Given the description of an element on the screen output the (x, y) to click on. 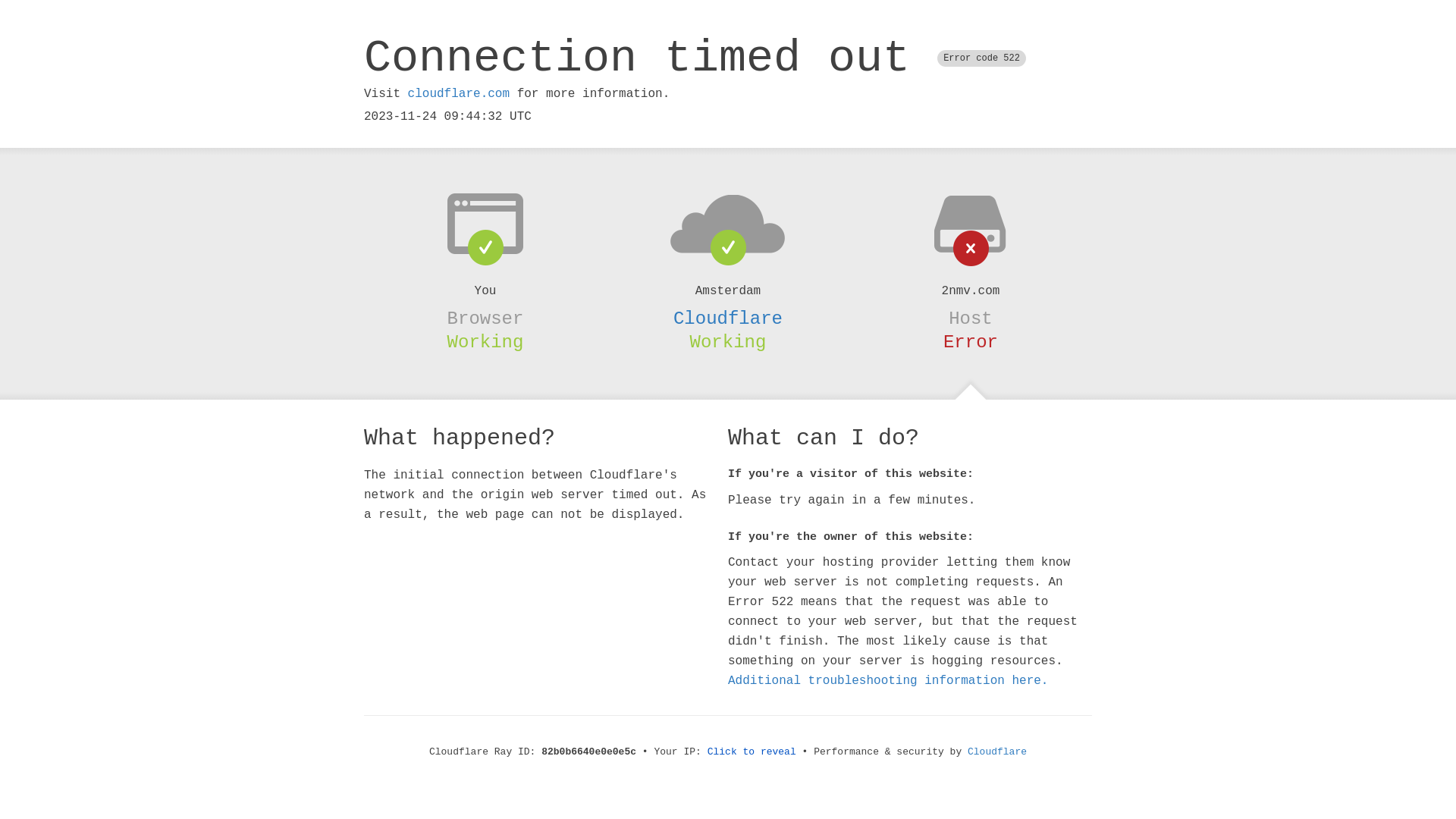
Cloudflare Element type: text (727, 318)
cloudflare.com Element type: text (458, 93)
Click to reveal Element type: text (751, 751)
Cloudflare Element type: text (996, 751)
Additional troubleshooting information here. Element type: text (888, 680)
